Given the description of an element on the screen output the (x, y) to click on. 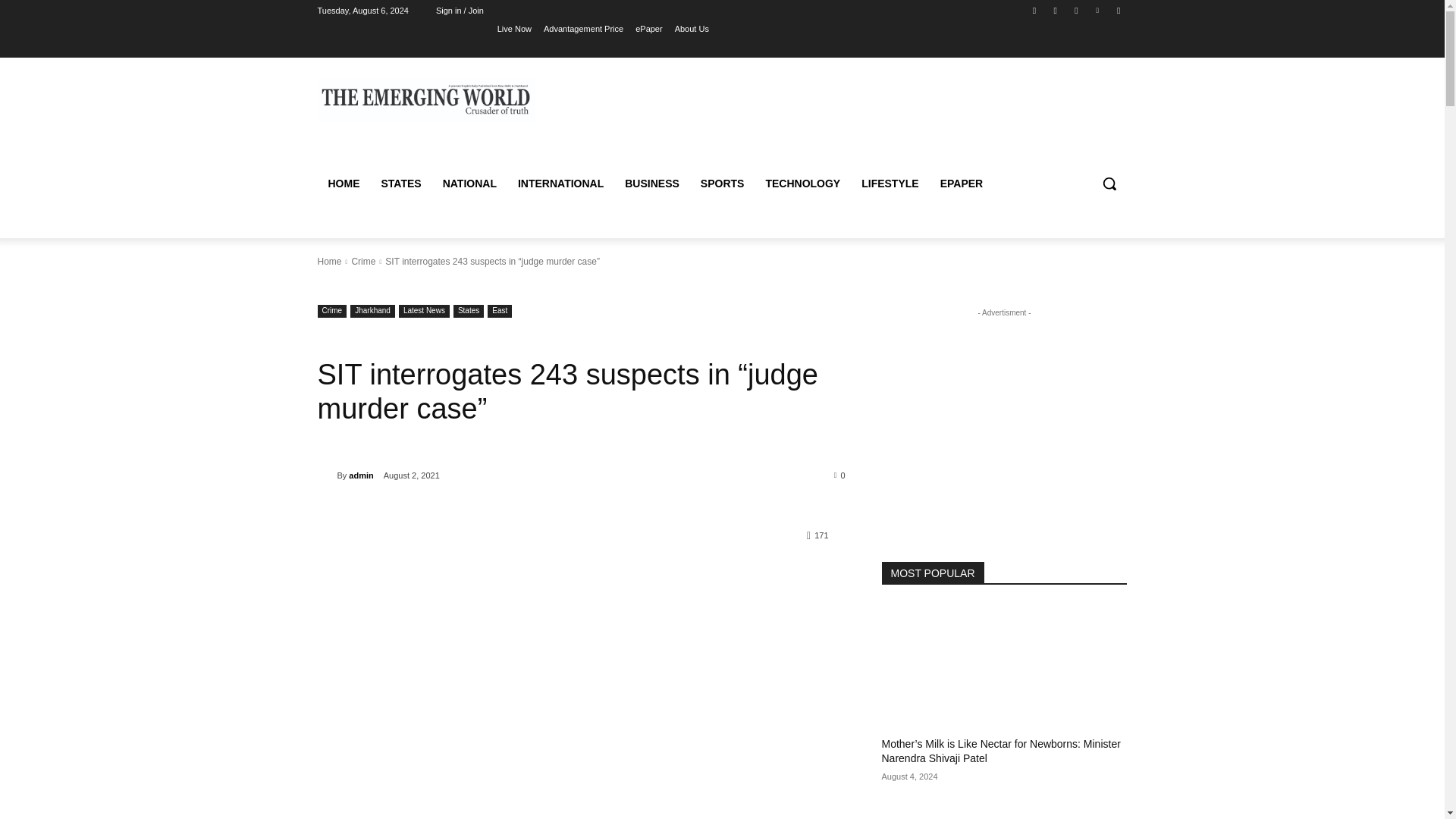
Vimeo (1097, 9)
BUSINESS (652, 183)
Instagram (1055, 9)
View all posts in Crime (362, 261)
EPAPER (962, 183)
About Us (692, 28)
HOME (343, 183)
INTERNATIONAL (560, 183)
ePaper (648, 28)
LIFESTYLE (889, 183)
Advantagement Price (583, 28)
SPORTS (722, 183)
NATIONAL (469, 183)
admin (326, 475)
Youtube (1117, 9)
